Given the description of an element on the screen output the (x, y) to click on. 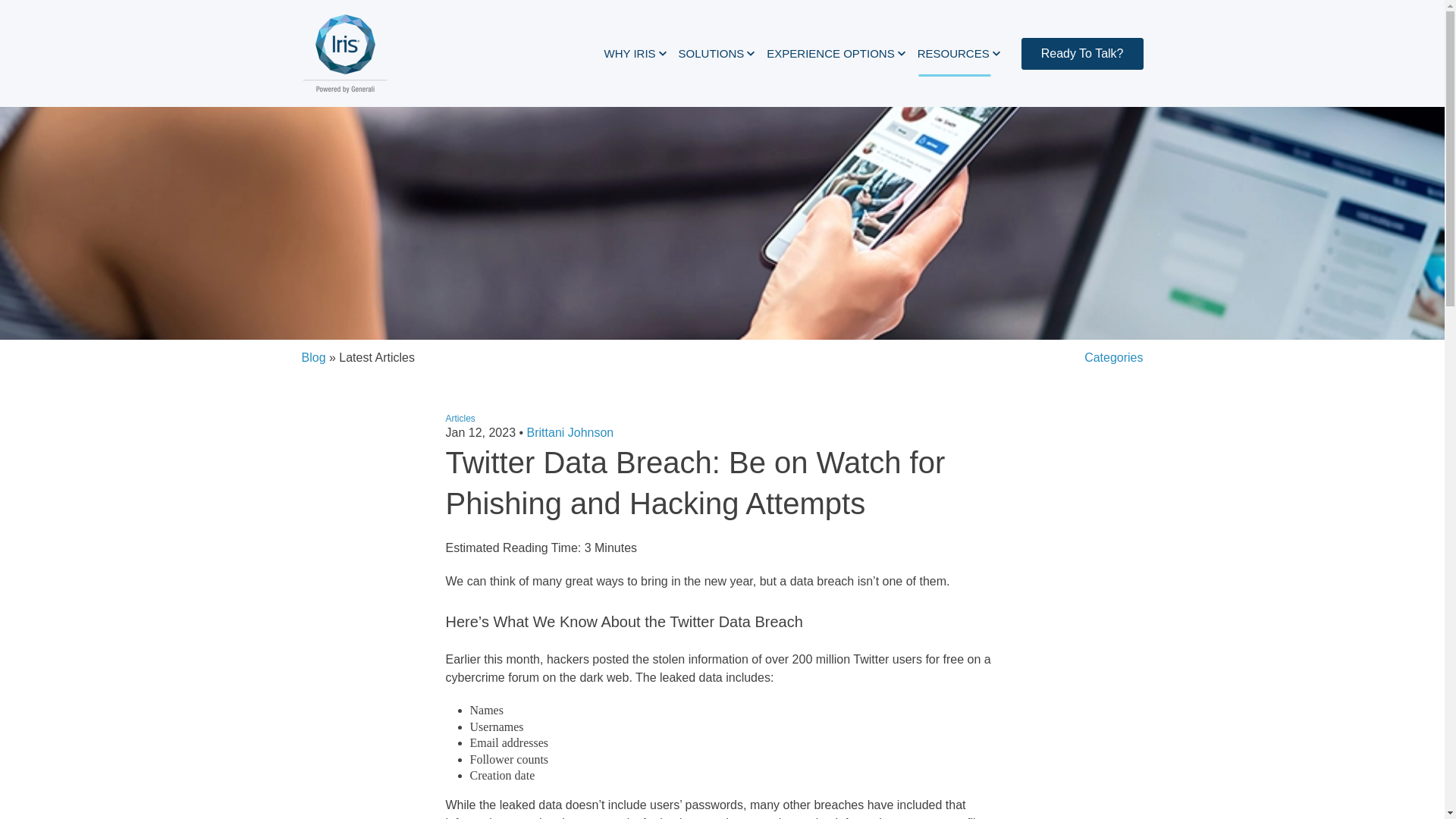
SOLUTIONS (716, 53)
EXPERIENCE OPTIONS (835, 53)
WHY IRIS (635, 53)
RESOURCES (958, 53)
